Given the description of an element on the screen output the (x, y) to click on. 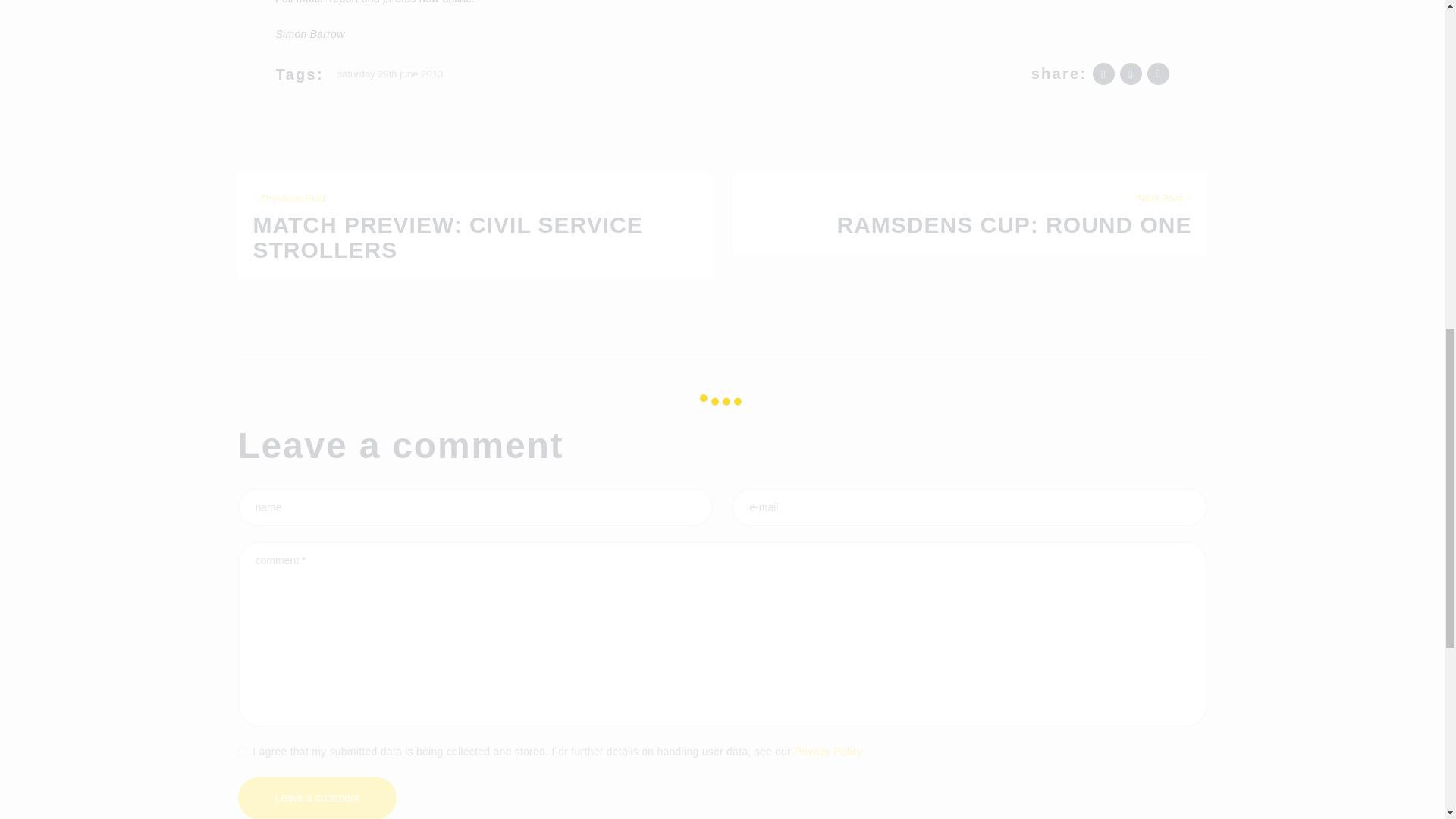
saturday 29th june 2013 (390, 74)
Leave a comment (475, 227)
